Given the description of an element on the screen output the (x, y) to click on. 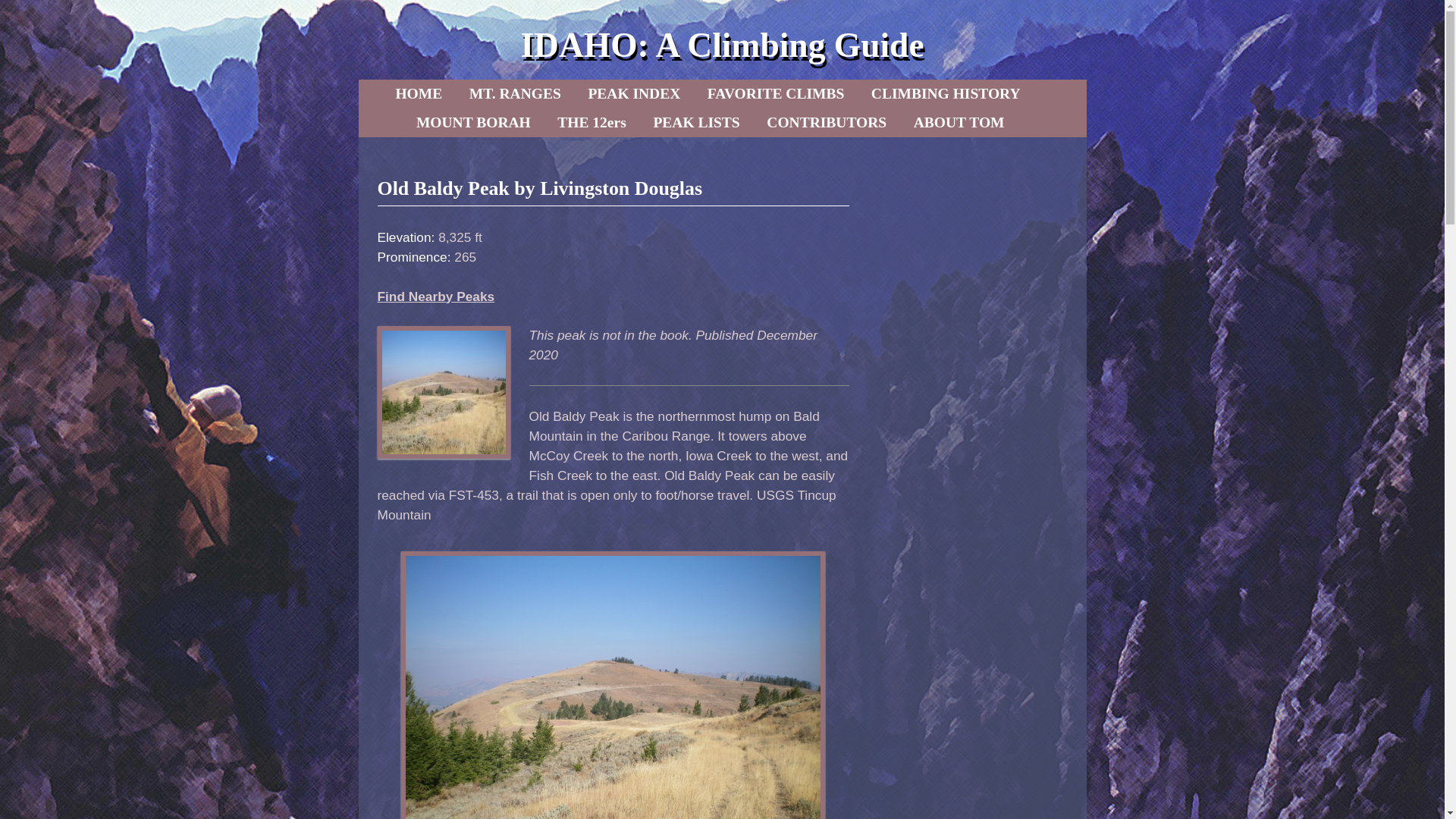
MT. RANGES (515, 93)
THE 12ers (591, 122)
CONTRIBUTORS (825, 122)
Find Nearby Peaks (436, 296)
HOME (418, 93)
Skip to secondary content (463, 93)
IDAHO: A Climbing Guide (721, 44)
IDAHO: A Climbing Guide (721, 44)
Skip to primary content (457, 93)
FAVORITE CLIMBS (775, 93)
